Given the description of an element on the screen output the (x, y) to click on. 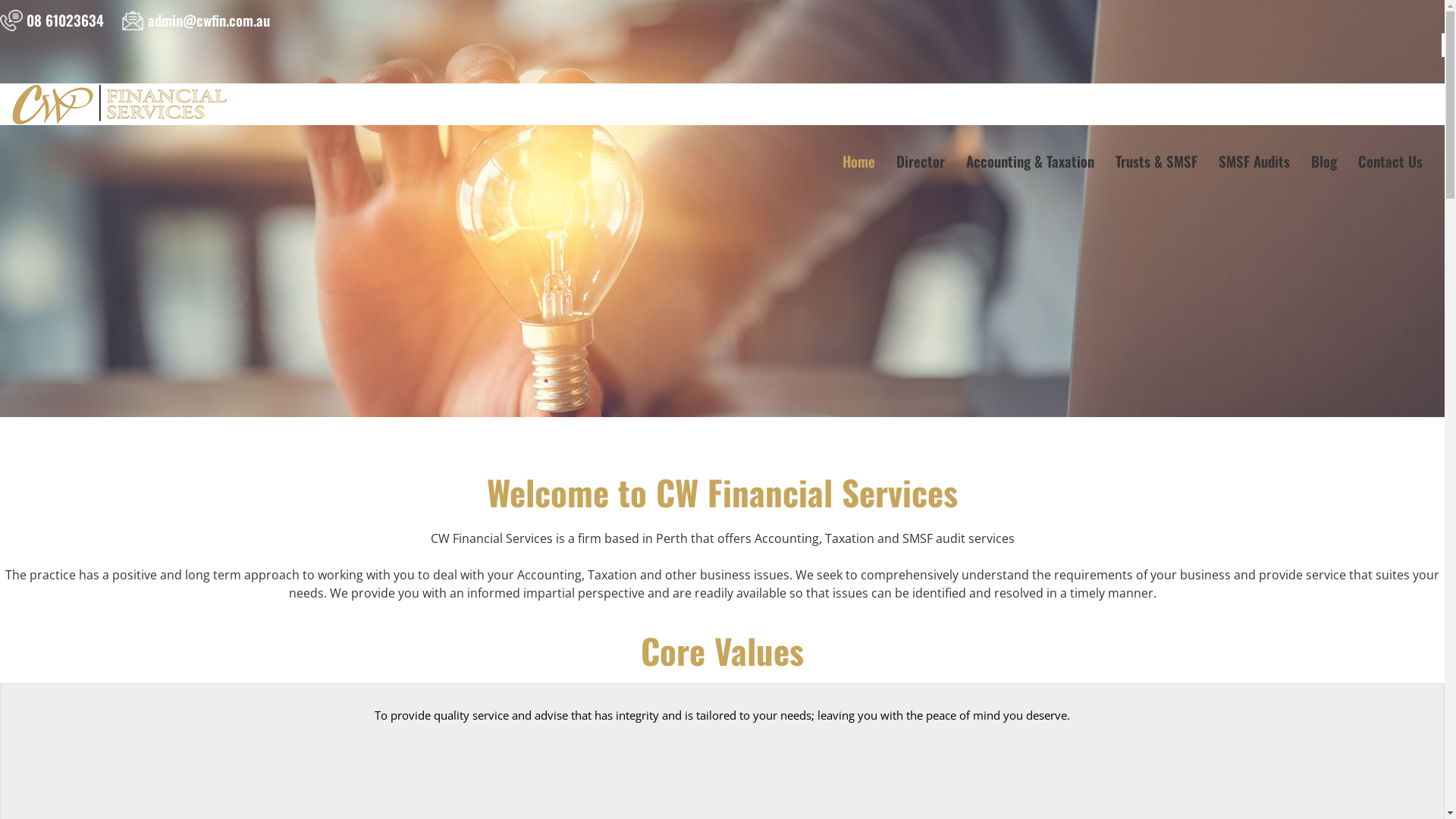
Skip to content Element type: text (841, 125)
Blog Element type: text (1323, 161)
Director Element type: text (920, 161)
Accounting & Taxation Element type: text (1030, 161)
Contact Us Element type: text (1390, 161)
admin@cwfin.com.au Element type: text (208, 19)
SMSF Audits Element type: text (1253, 161)
08 61023634 Element type: text (64, 19)
Home Element type: text (858, 161)
Trusts & SMSF Element type: text (1156, 161)
